Given the description of an element on the screen output the (x, y) to click on. 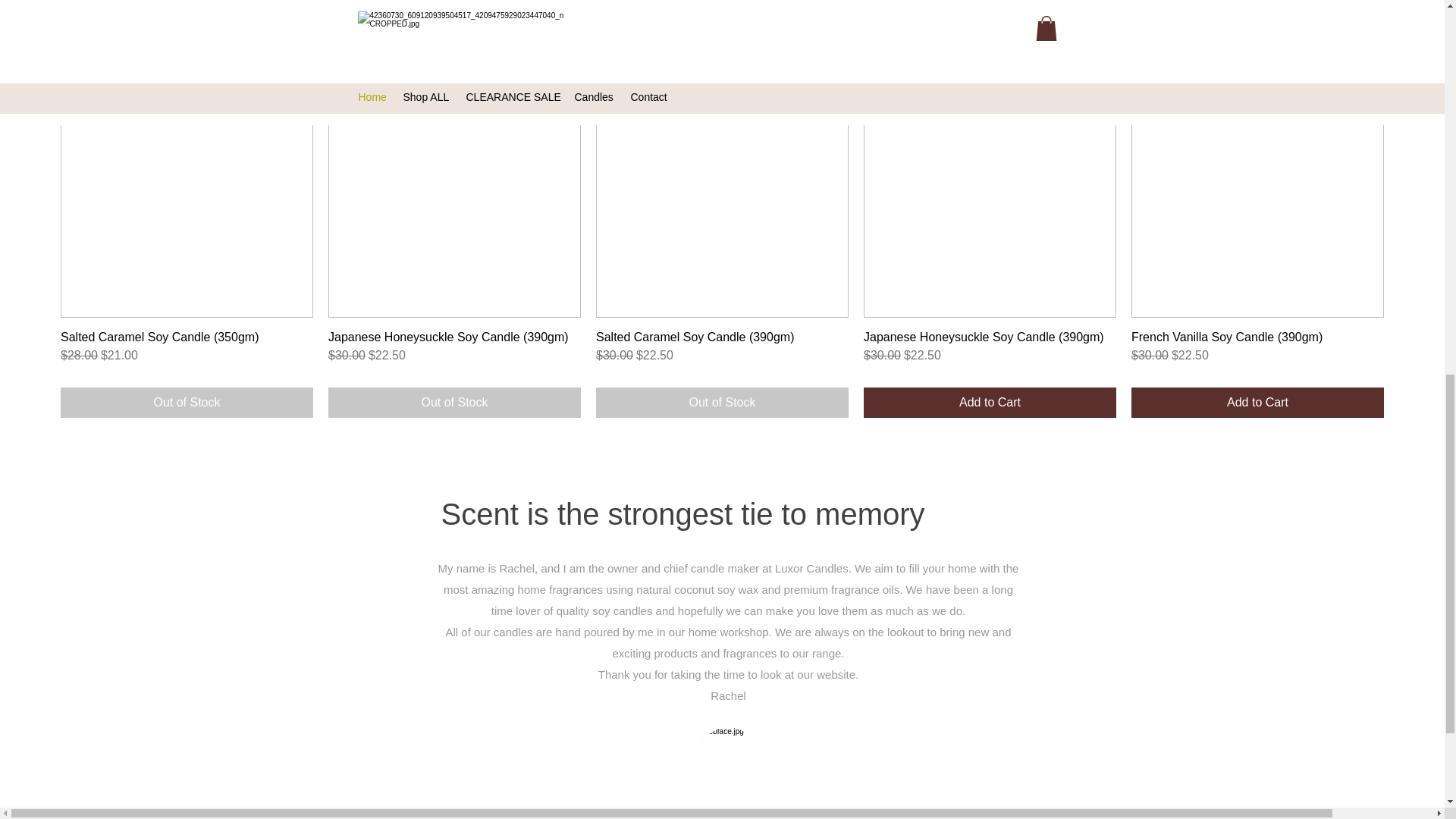
Out of Stock (187, 402)
Add to Cart (989, 402)
Out of Stock (721, 402)
Out of Stock (454, 402)
Shop Now (722, 13)
Add to Cart (1257, 402)
